Given the description of an element on the screen output the (x, y) to click on. 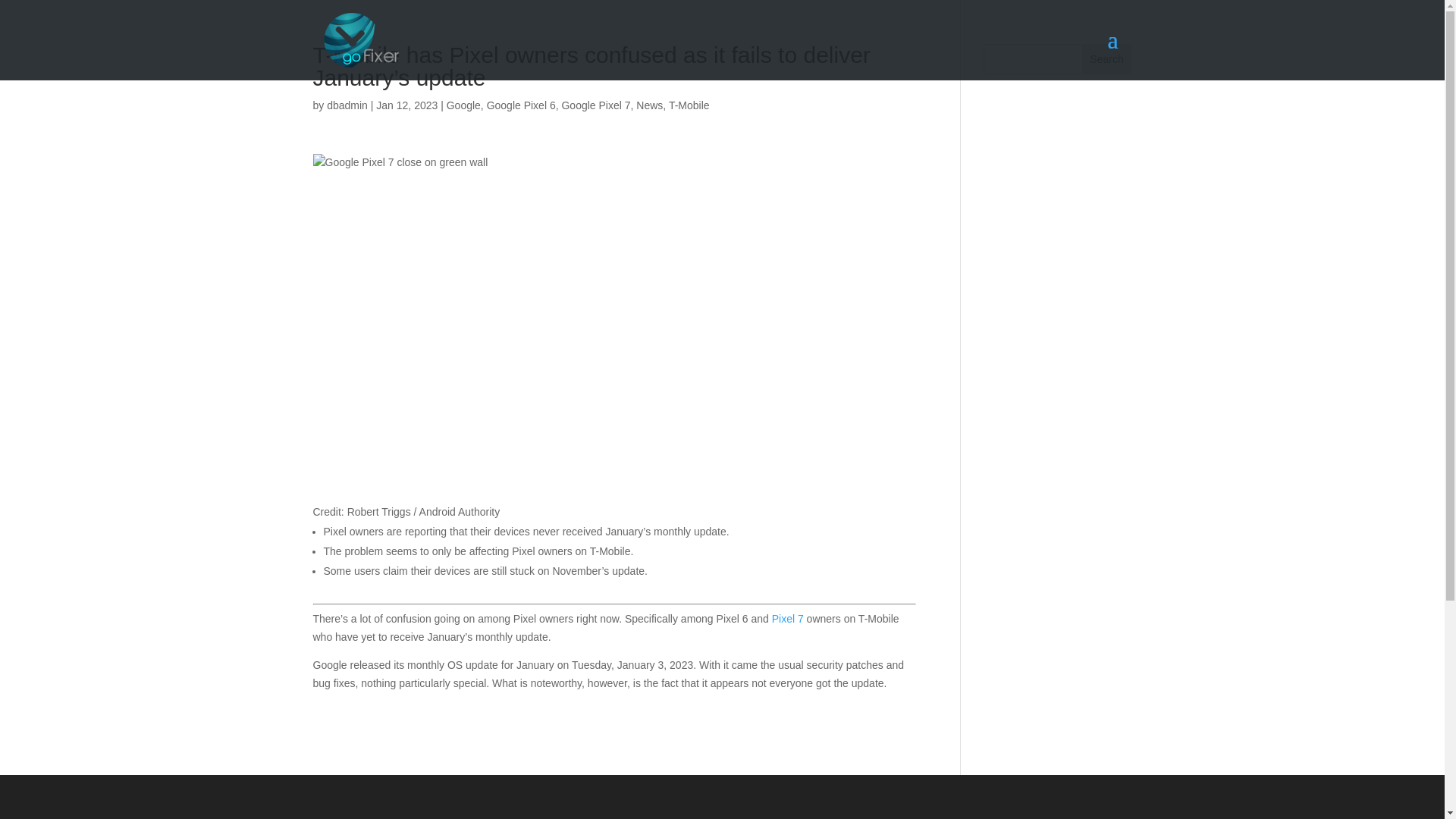
Search (1106, 59)
dbadmin (347, 105)
Google Pixel 6 (521, 105)
Search (1106, 59)
Google (463, 105)
News (649, 105)
Posts by dbadmin (347, 105)
T-Mobile (689, 105)
Google Pixel 7 (595, 105)
Pixel 7 (787, 618)
